Given the description of an element on the screen output the (x, y) to click on. 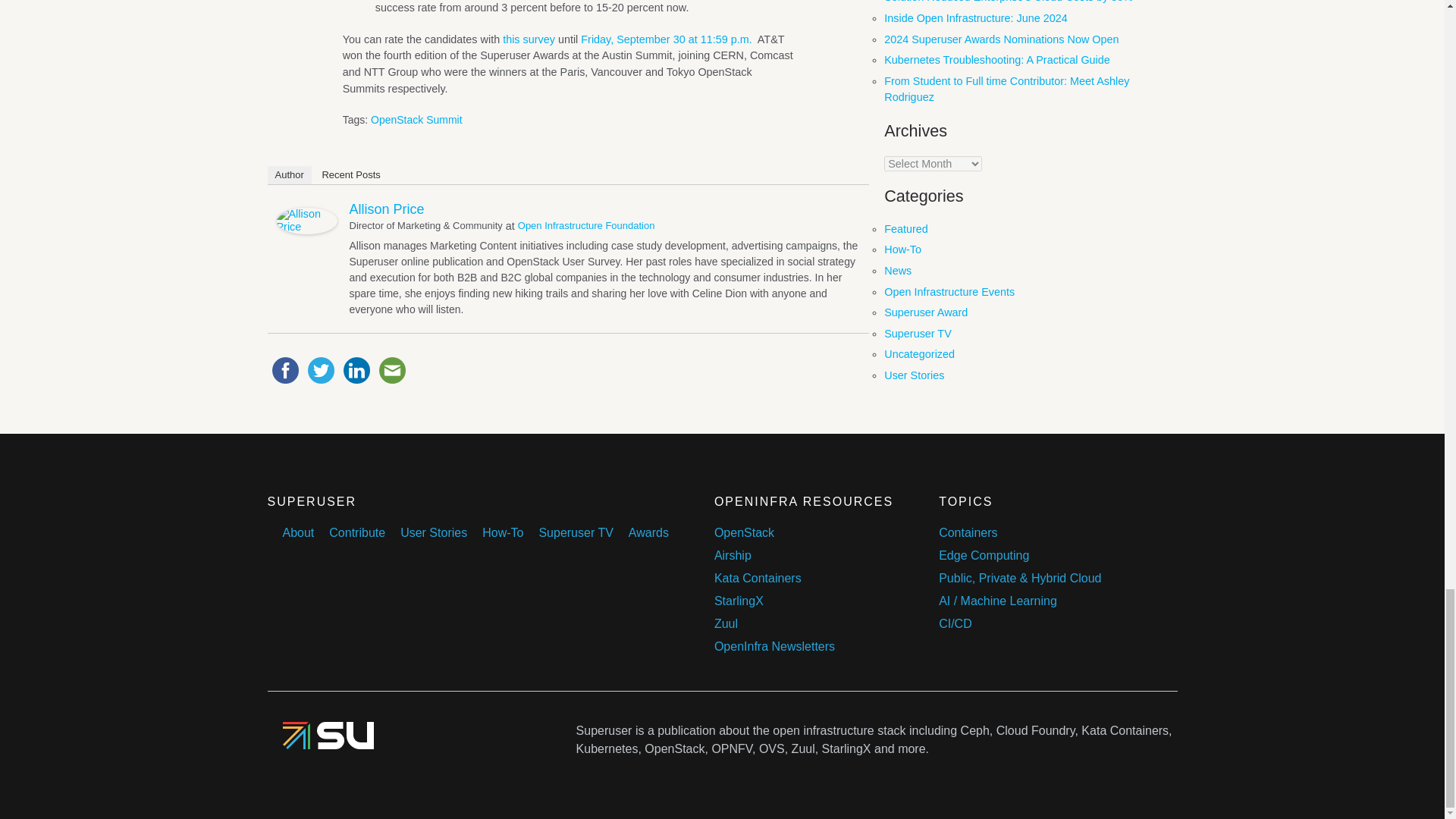
this survey (528, 39)
Friday, September 30 at 11:59 p.m. (665, 39)
email (392, 370)
twitter (320, 370)
Allison Price (306, 230)
Open Infrastructure Foundation (586, 225)
facebook (284, 370)
Allison Price (386, 209)
linkedin (355, 370)
Recent Posts (350, 175)
Author (288, 175)
OpenStack Summit (417, 119)
